Given the description of an element on the screen output the (x, y) to click on. 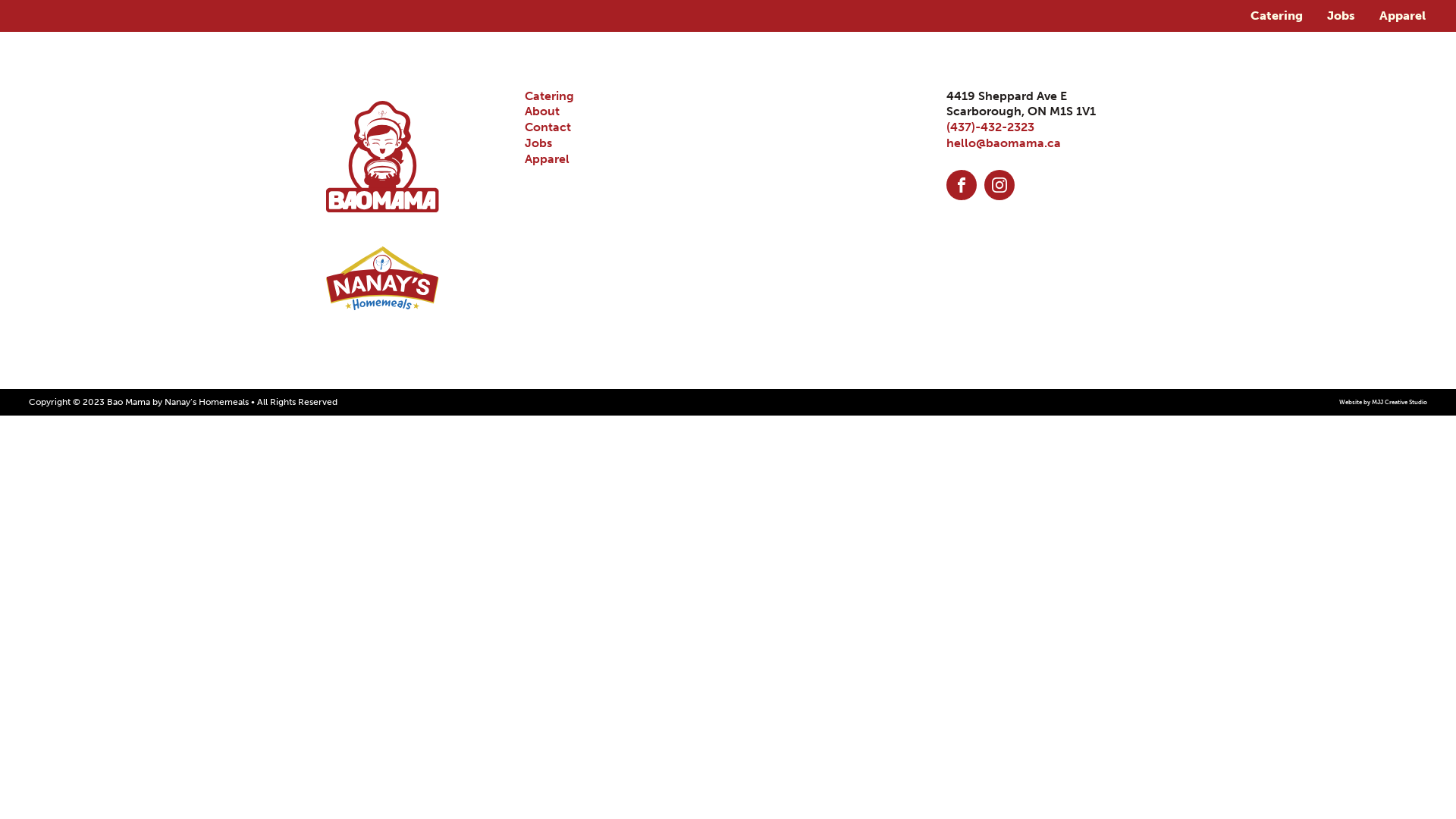
Apparel Element type: text (1402, 15)
Jobs Element type: text (1340, 15)
Catering Element type: text (549, 95)
Website by MJJ Creative Studio Element type: text (1383, 402)
About Element type: text (541, 110)
hello@baomama.ca Element type: text (1003, 142)
Jobs Element type: text (538, 142)
Catering Element type: text (1276, 15)
Contact Element type: text (547, 126)
Apparel Element type: text (546, 158)
(437)-432-2323 Element type: text (990, 126)
